Given the description of an element on the screen output the (x, y) to click on. 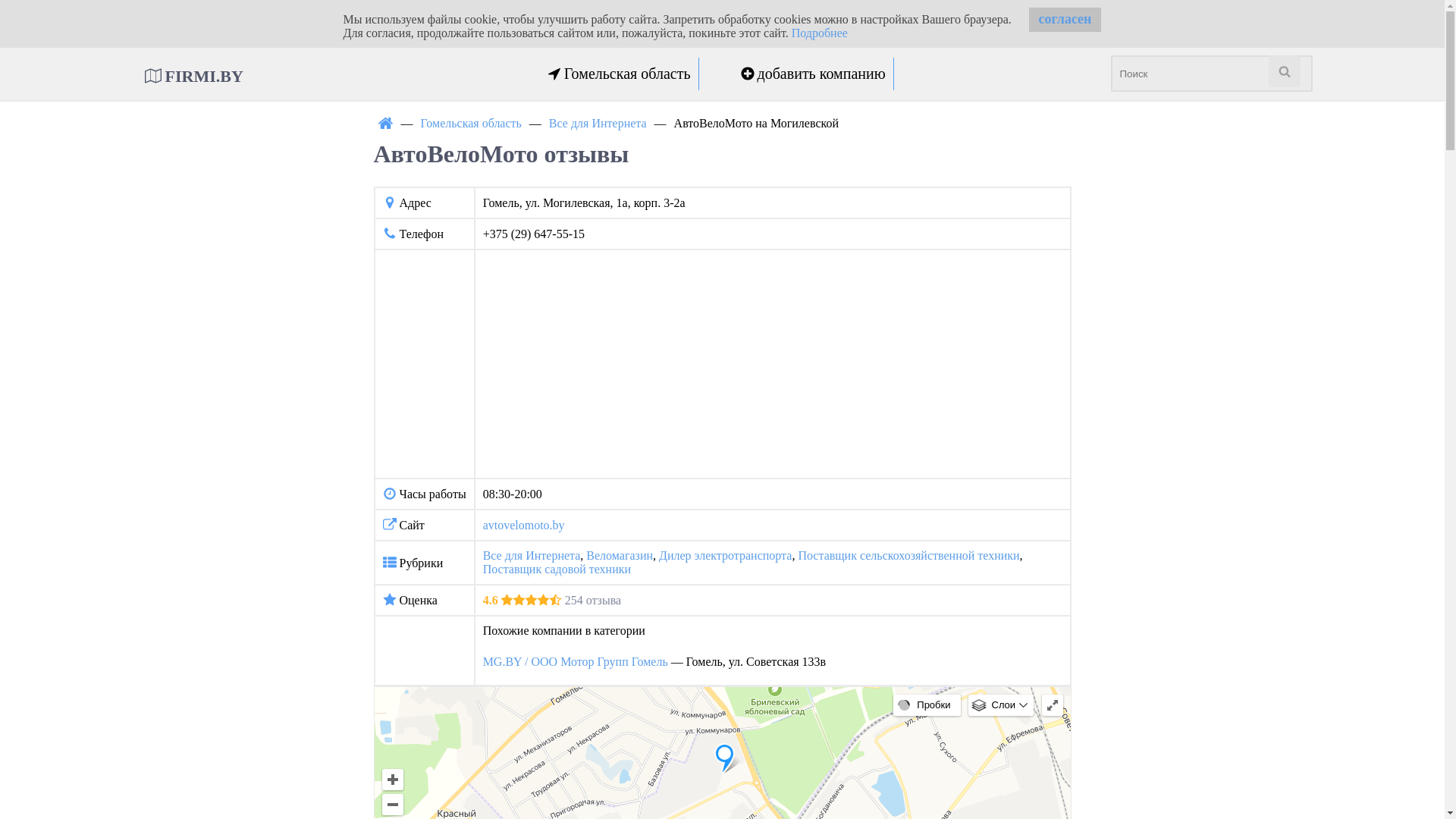
FIRMI.BY Element type: text (193, 75)
Advertisement Element type: hover (772, 363)
avtovelomoto.by Element type: text (523, 524)
